Given the description of an element on the screen output the (x, y) to click on. 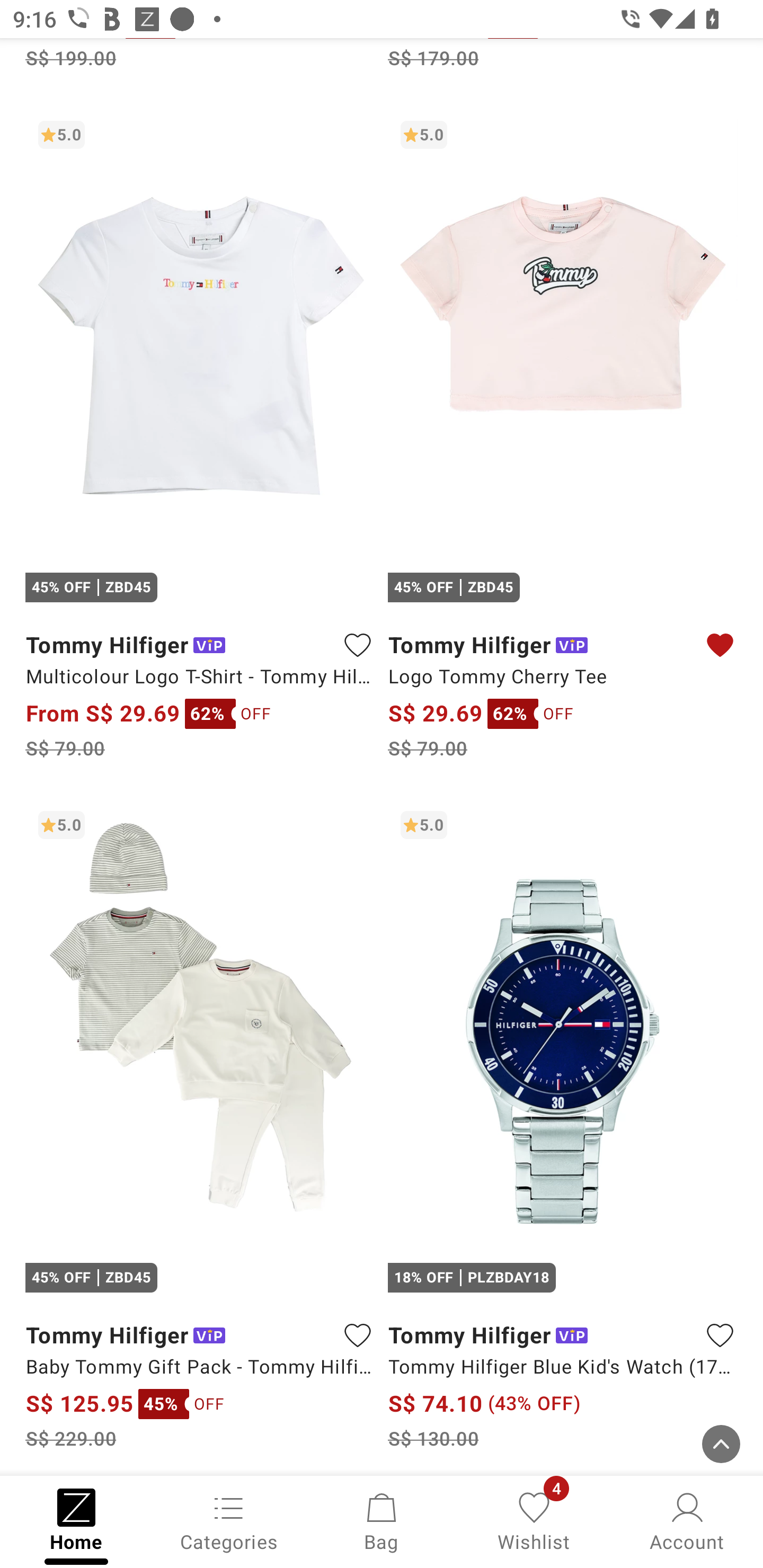
Categories (228, 1519)
Bag (381, 1519)
Wishlist, 4 new notifications Wishlist (533, 1519)
Account (686, 1519)
